Given the description of an element on the screen output the (x, y) to click on. 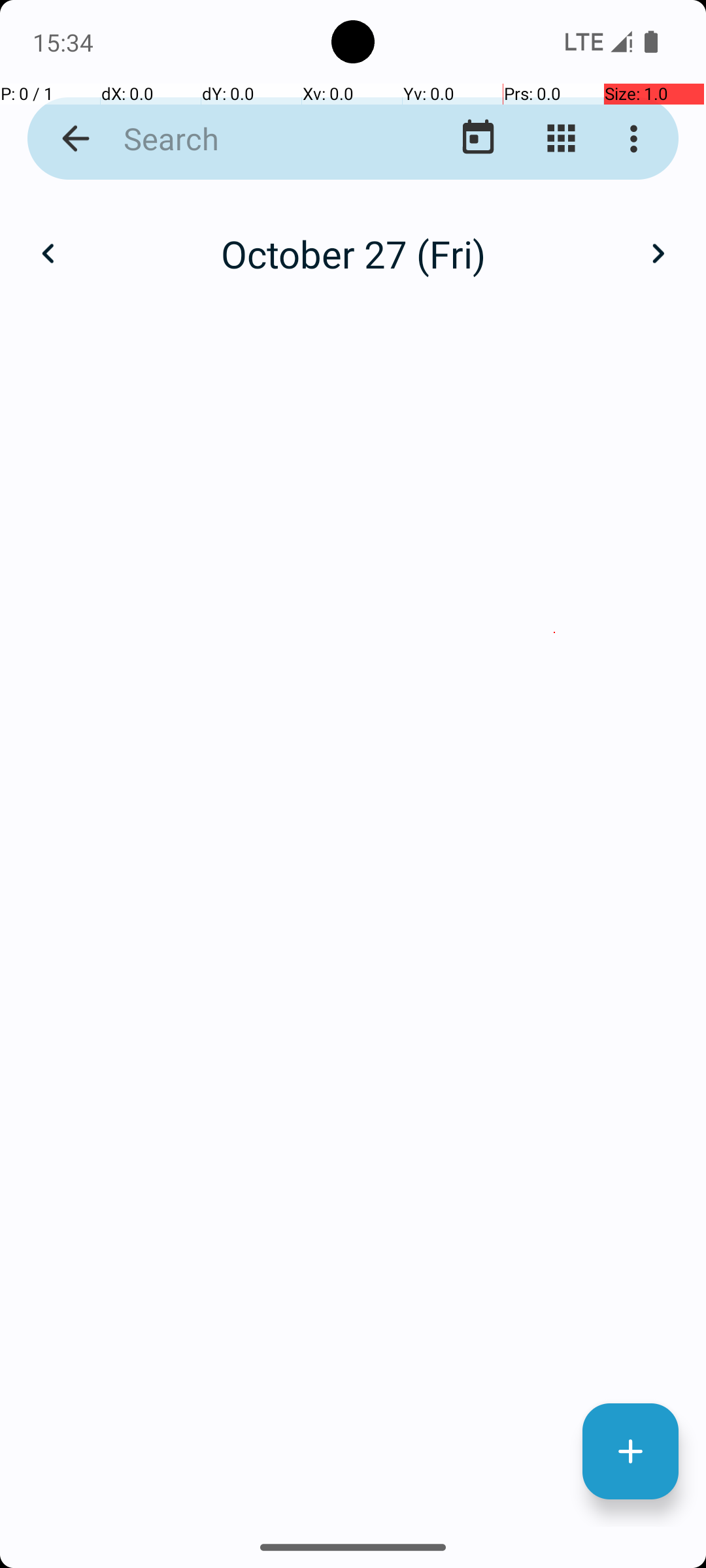
October 27 (Fri) Element type: android.widget.TextView (352, 253)
